Given the description of an element on the screen output the (x, y) to click on. 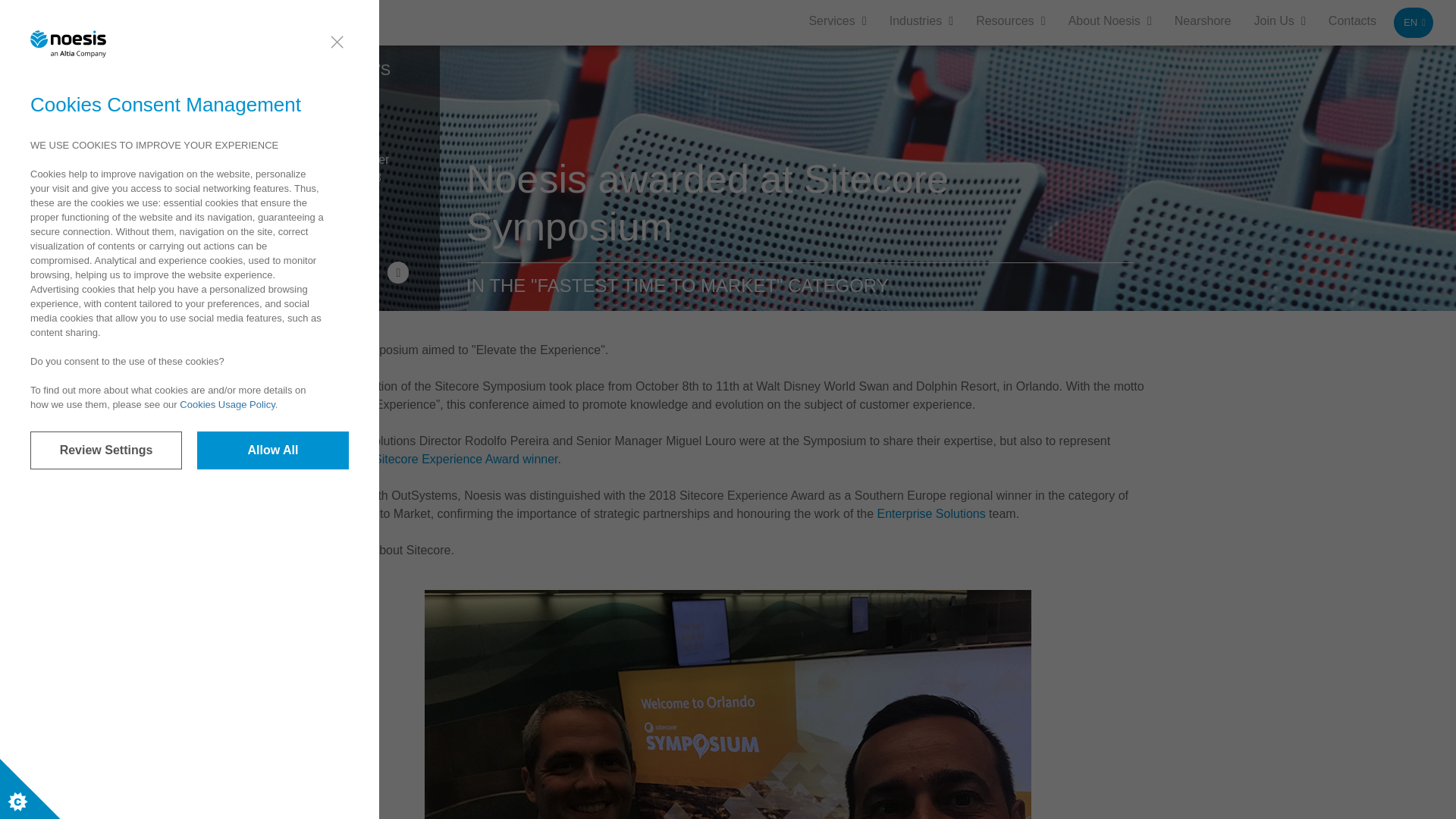
Share on Facebook (336, 272)
Services (831, 19)
Image 1 (727, 814)
logo (121, 22)
